Given the description of an element on the screen output the (x, y) to click on. 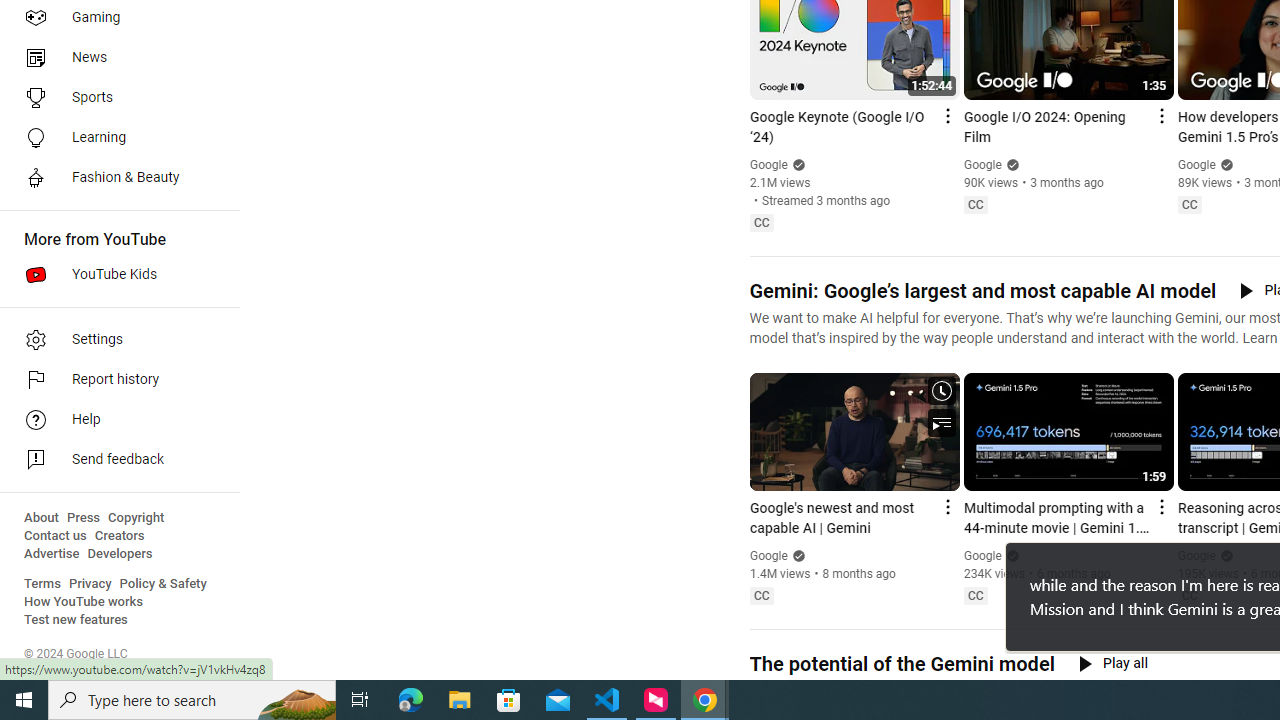
The potential of the Gemini model (901, 664)
